Given the description of an element on the screen output the (x, y) to click on. 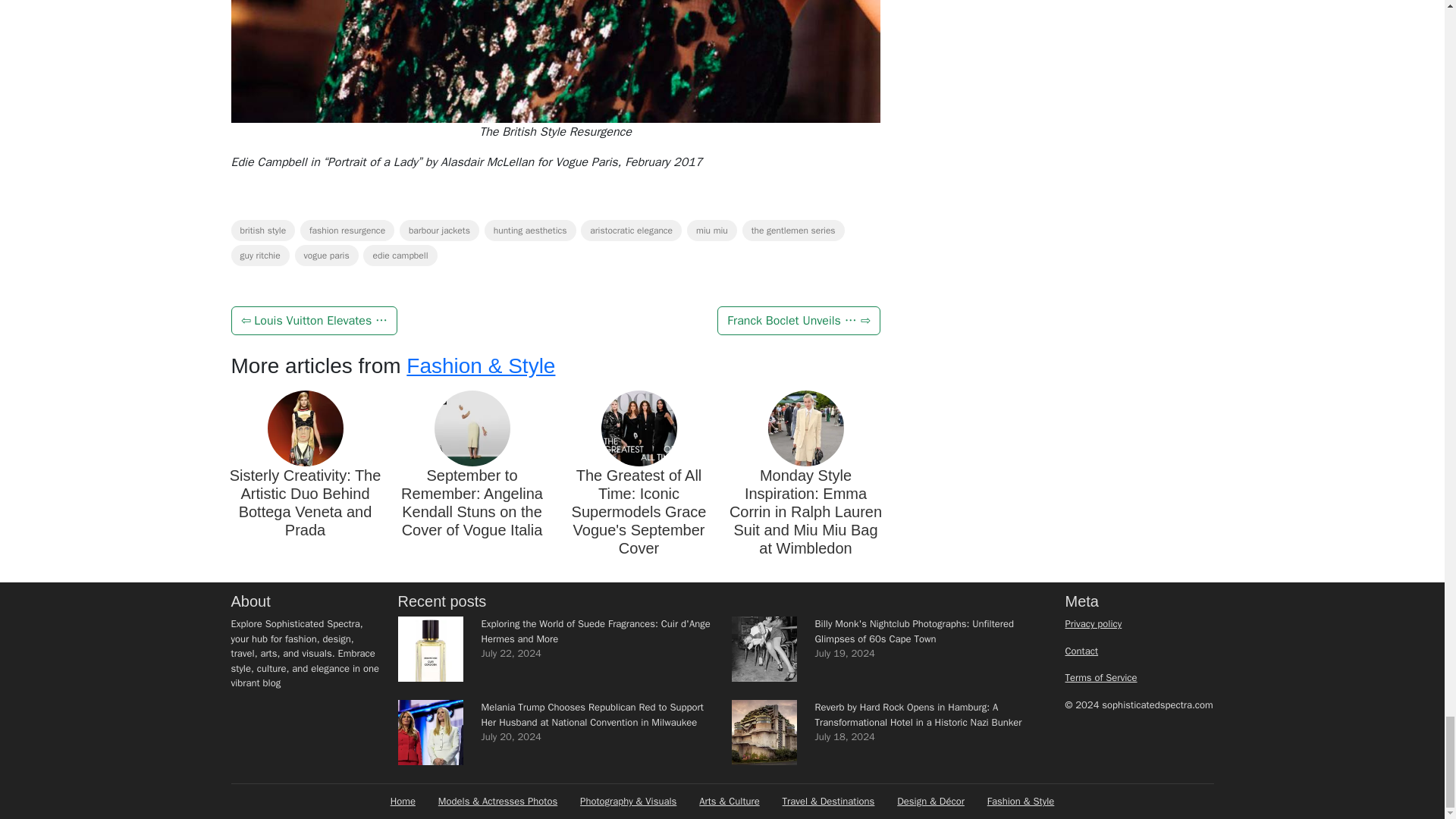
british style (262, 230)
barbour jackets (438, 230)
hunting aesthetics (530, 230)
edie campbell (399, 255)
the gentlemen series (793, 230)
vogue paris (326, 255)
guy ritchie (259, 255)
miu miu (711, 230)
fashion resurgence (346, 230)
aristocratic elegance (630, 230)
